Given the description of an element on the screen output the (x, y) to click on. 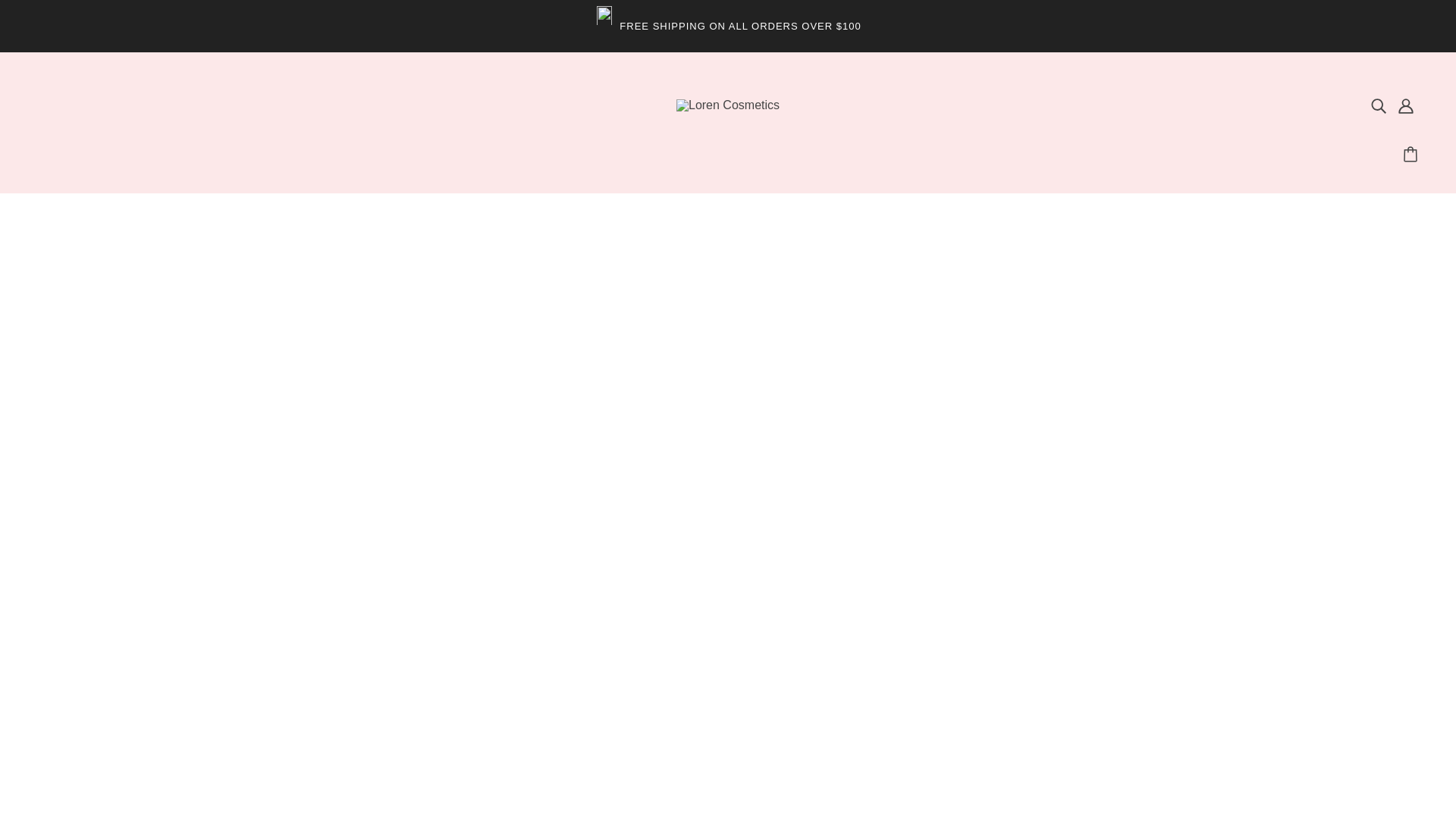
Loren Cosmetics (727, 104)
